Given the description of an element on the screen output the (x, y) to click on. 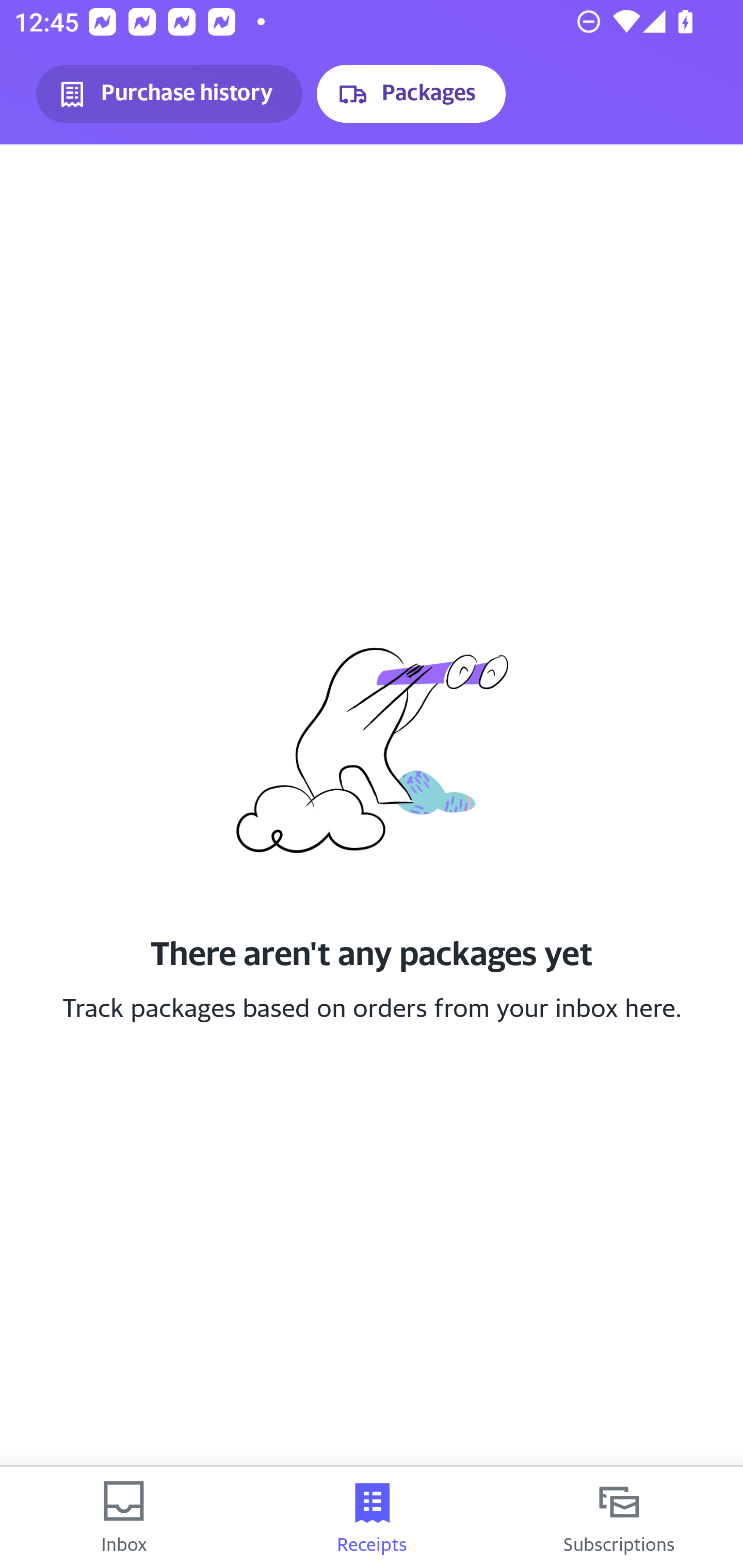
Purchase history (169, 93)
Inbox (123, 1517)
Receipts (371, 1517)
Subscriptions (619, 1517)
